Given the description of an element on the screen output the (x, y) to click on. 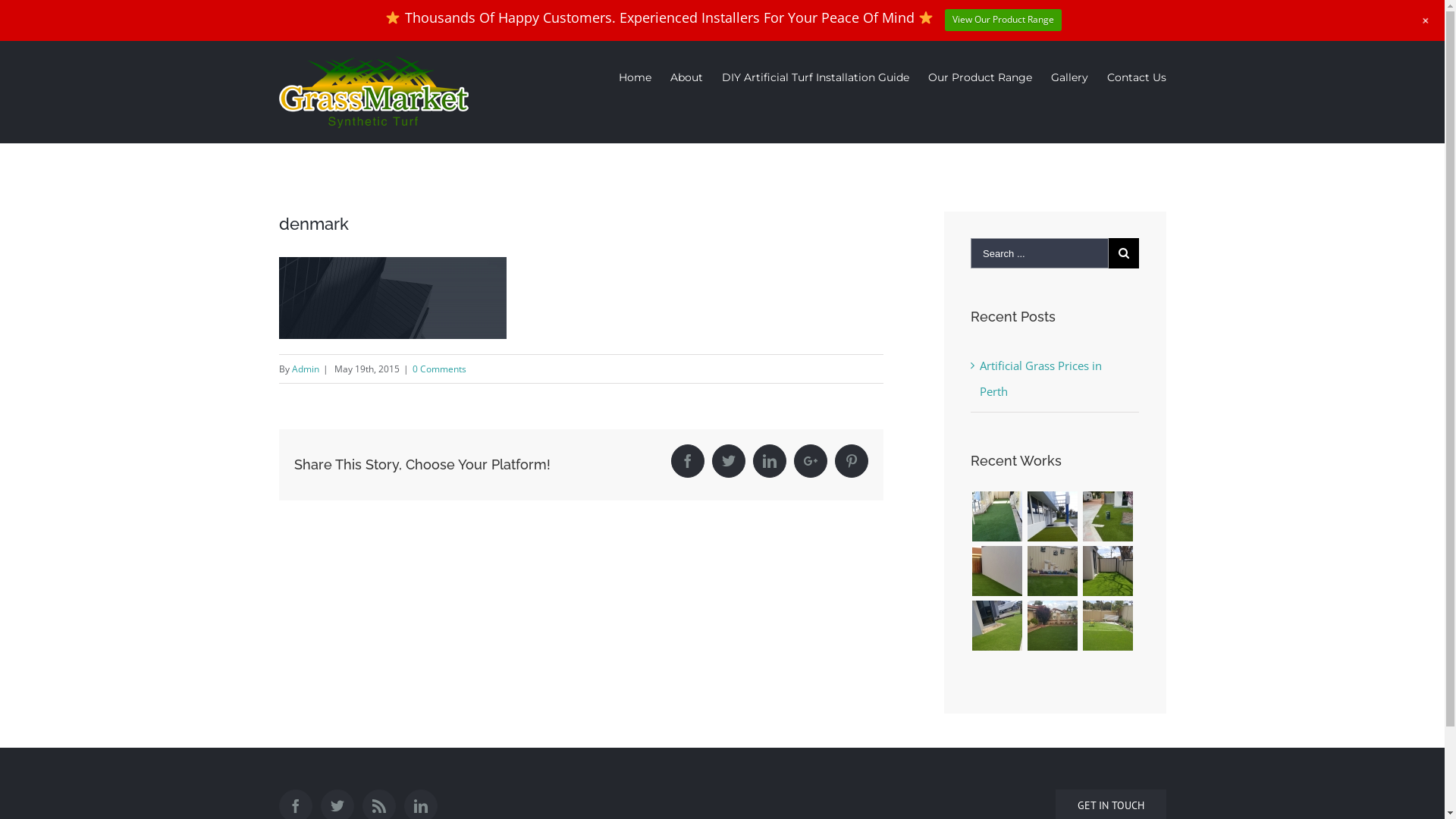
Artificial Grass Element type: hover (1052, 516)
Linkedin Element type: text (769, 460)
Facebook Element type: text (687, 460)
Google+ Element type: text (810, 460)
Twitter Element type: text (728, 460)
Artificial Grass Element type: hover (996, 516)
Artificial Grass Element type: hover (1107, 625)
View Our Product Range Element type: text (1002, 20)
Artificial Grass Element type: hover (1052, 625)
Pinterest Element type: text (851, 460)
Admin Element type: text (304, 368)
Artificial Grass Element type: hover (1052, 570)
Artificial Grass Element type: hover (996, 625)
0 Comments Element type: text (439, 368)
Artificial Grass Element type: hover (996, 570)
Artificial Grass Element type: hover (1107, 516)
DIY Artificial Turf Installation Guide Element type: text (815, 76)
Gallery Element type: text (1069, 76)
Home Element type: text (634, 76)
+ Element type: text (1425, 20)
Artificial Grass Element type: hover (1107, 570)
Contact Us Element type: text (1136, 76)
Our Product Range Element type: text (980, 76)
Artificial Grass Prices in Perth Element type: text (1040, 377)
About Element type: text (686, 76)
